Given the description of an element on the screen output the (x, y) to click on. 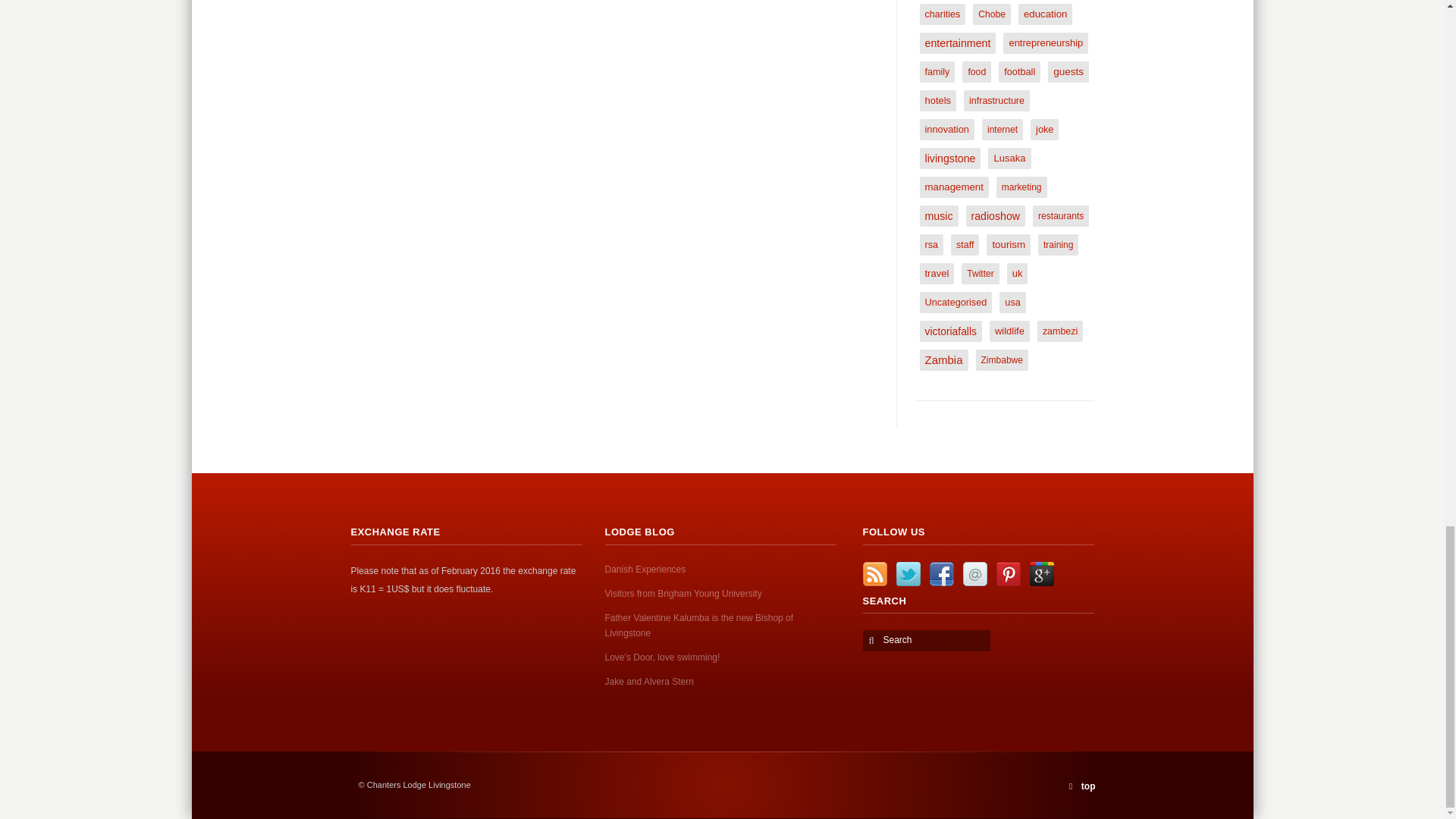
Pinterest (1007, 573)
Search (928, 639)
Facebook (941, 573)
Email (974, 573)
Twitter (908, 573)
RSS Feed (874, 573)
